Given the description of an element on the screen output the (x, y) to click on. 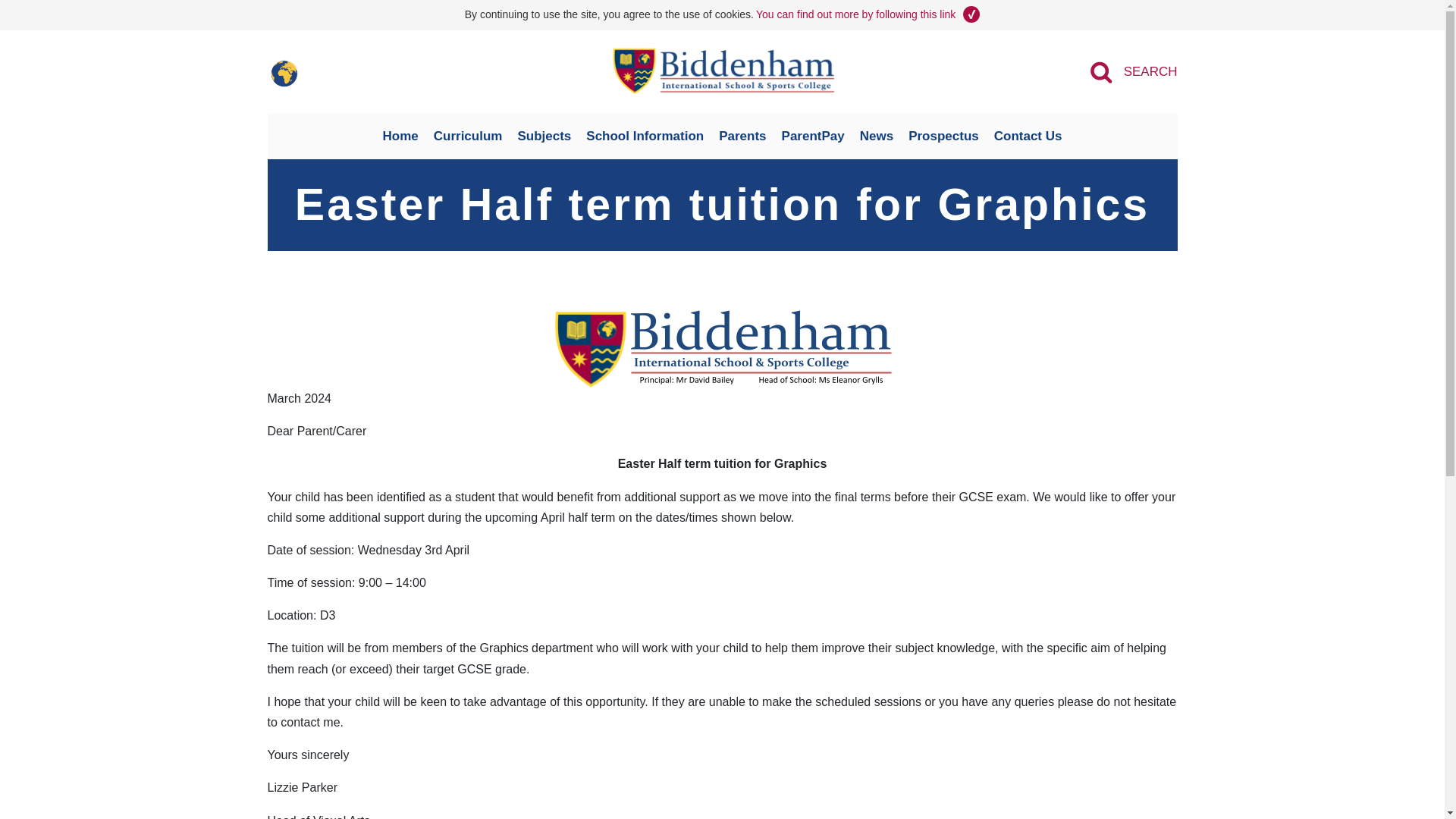
Home (400, 135)
Subjects (543, 135)
Curriculum (468, 135)
SEARCH (1133, 71)
You can find out more by following this link (855, 14)
